Given the description of an element on the screen output the (x, y) to click on. 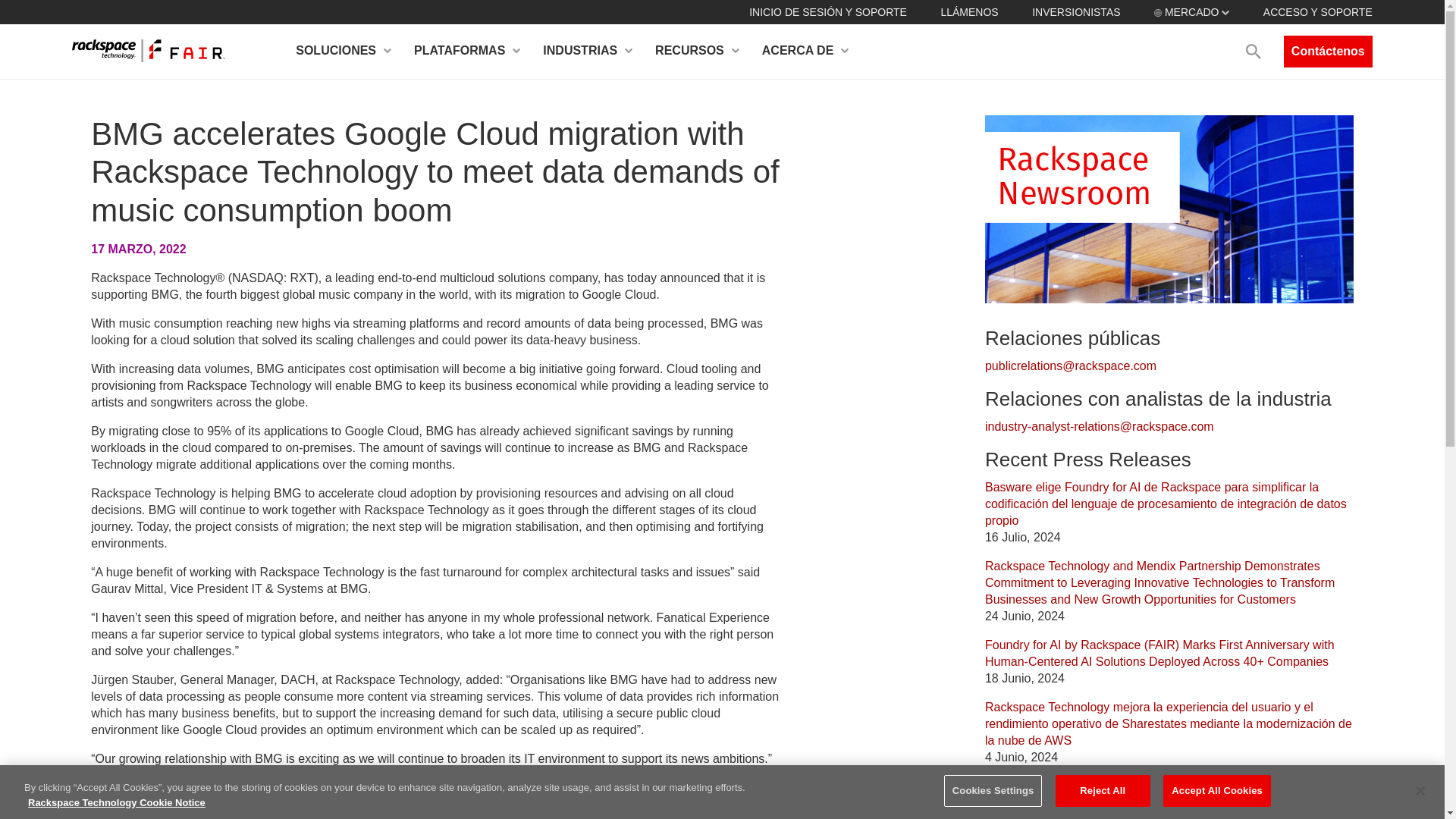
ACCESO Y SOPORTE (1318, 11)
MERCADO (1191, 11)
SOLUCIONES (343, 51)
INVERSIONISTAS (1075, 11)
